Given the description of an element on the screen output the (x, y) to click on. 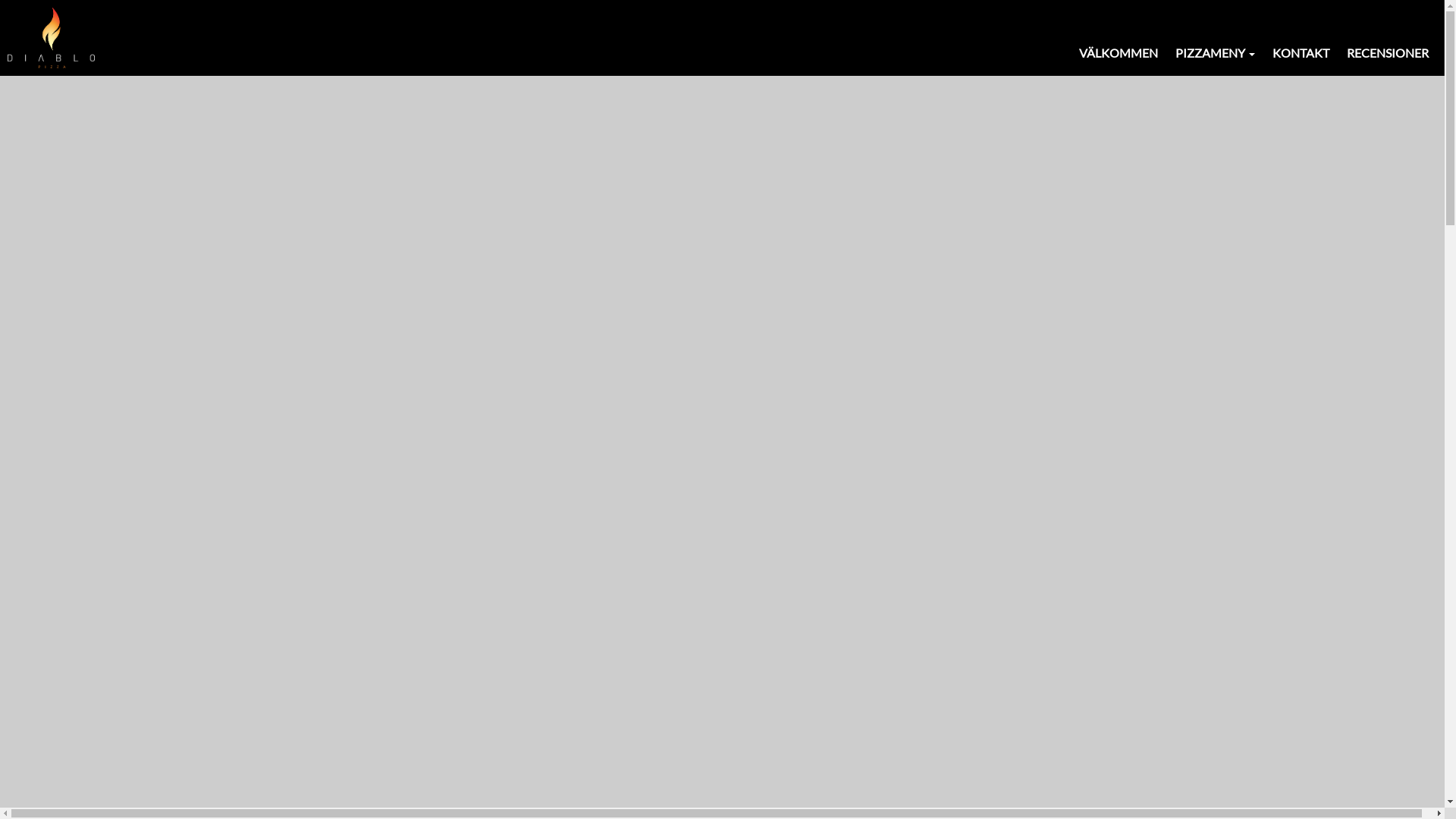
PIZZAMENY Element type: text (1215, 53)
KONTAKT Element type: text (1300, 53)
RECENSIONER Element type: text (1387, 53)
